Given the description of an element on the screen output the (x, y) to click on. 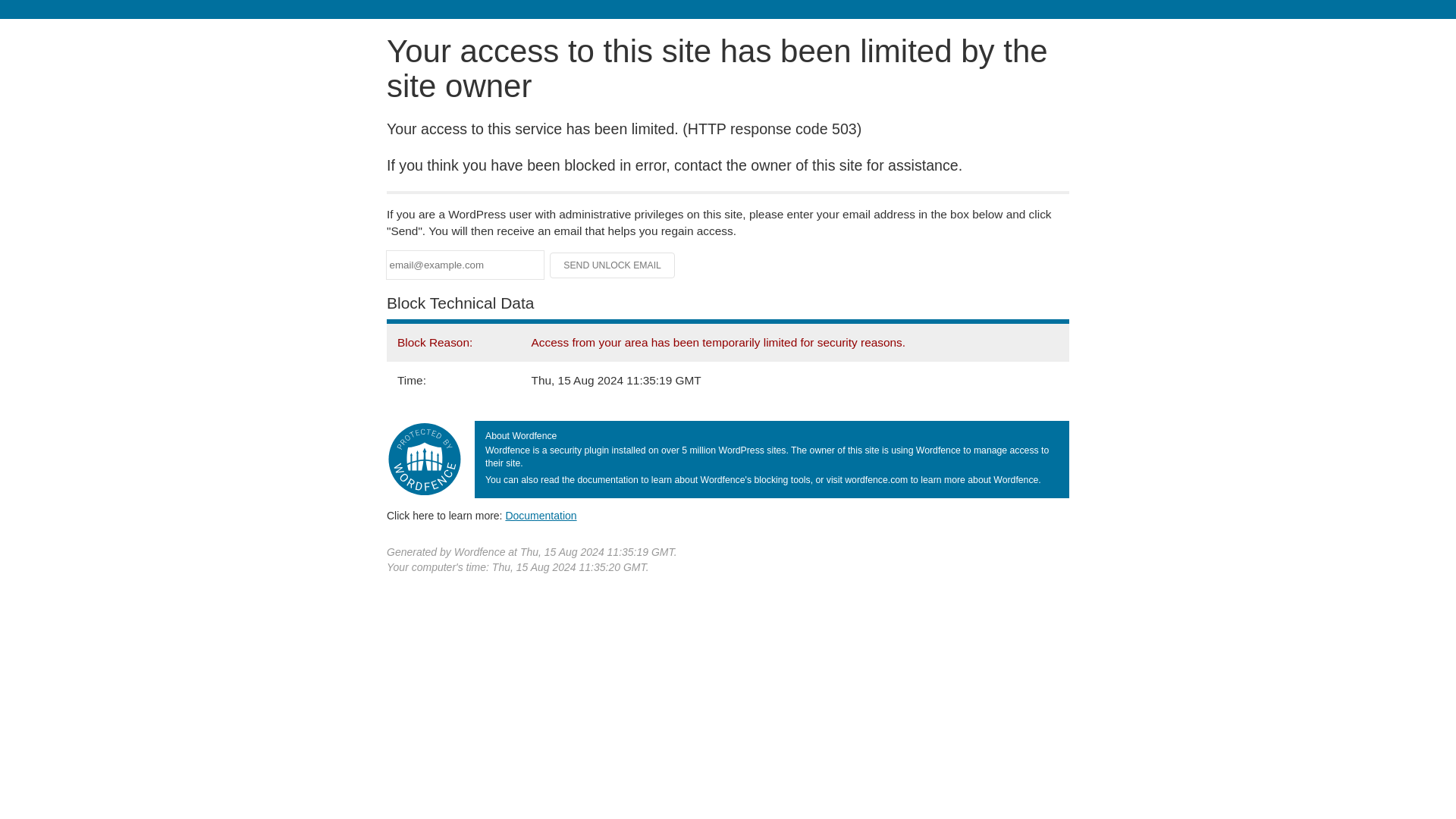
Send Unlock Email (612, 265)
Documentation (540, 515)
Send Unlock Email (612, 265)
